Given the description of an element on the screen output the (x, y) to click on. 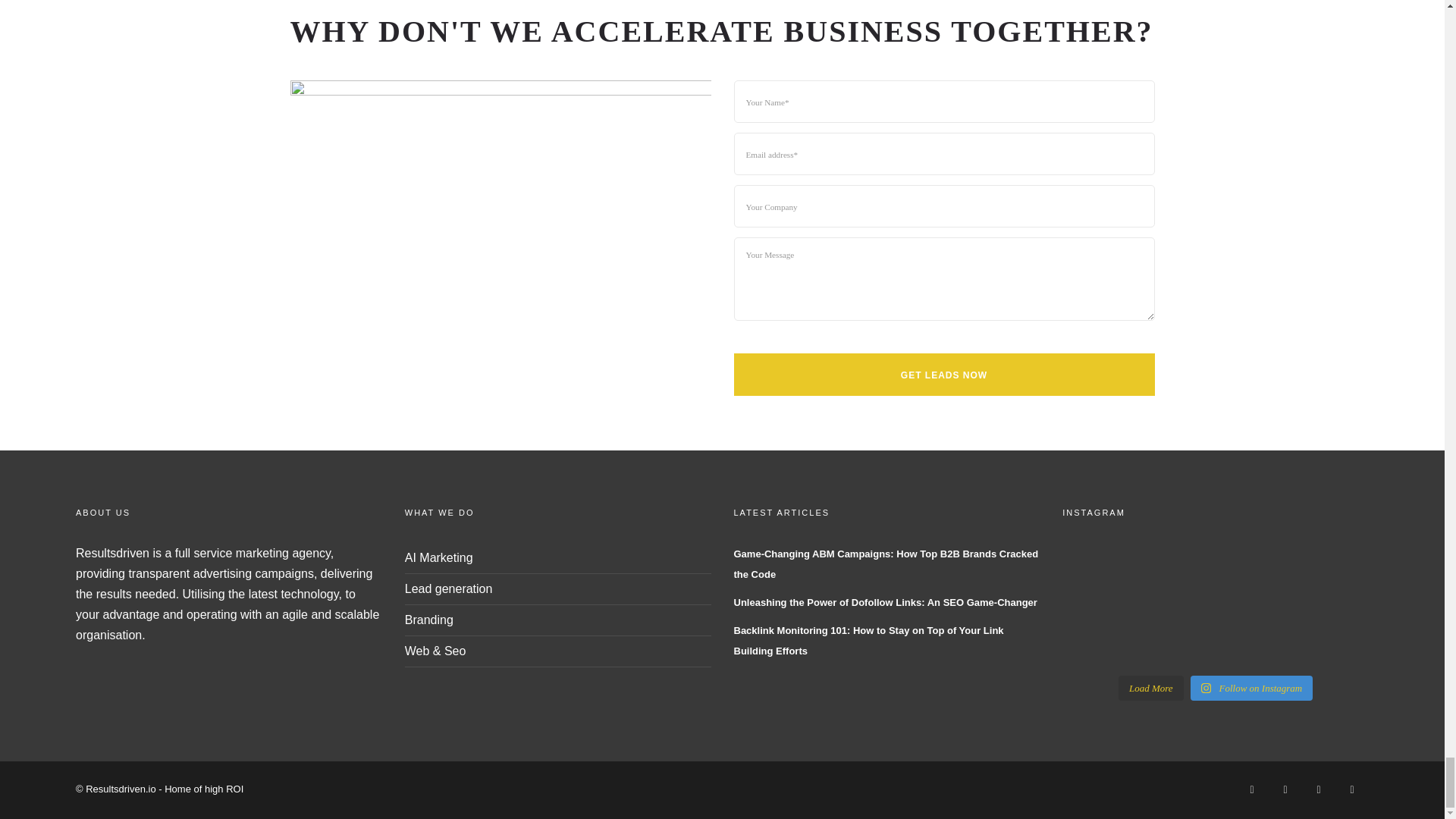
Branding (428, 619)
Unleashing the Power of Dofollow Links: An SEO Game-Changer (884, 601)
Lead generation (448, 588)
AI Marketing (438, 557)
Get leads now (943, 373)
Unleashing the Power of Dofollow Links: An SEO Game-Changer (884, 601)
